Given the description of an element on the screen output the (x, y) to click on. 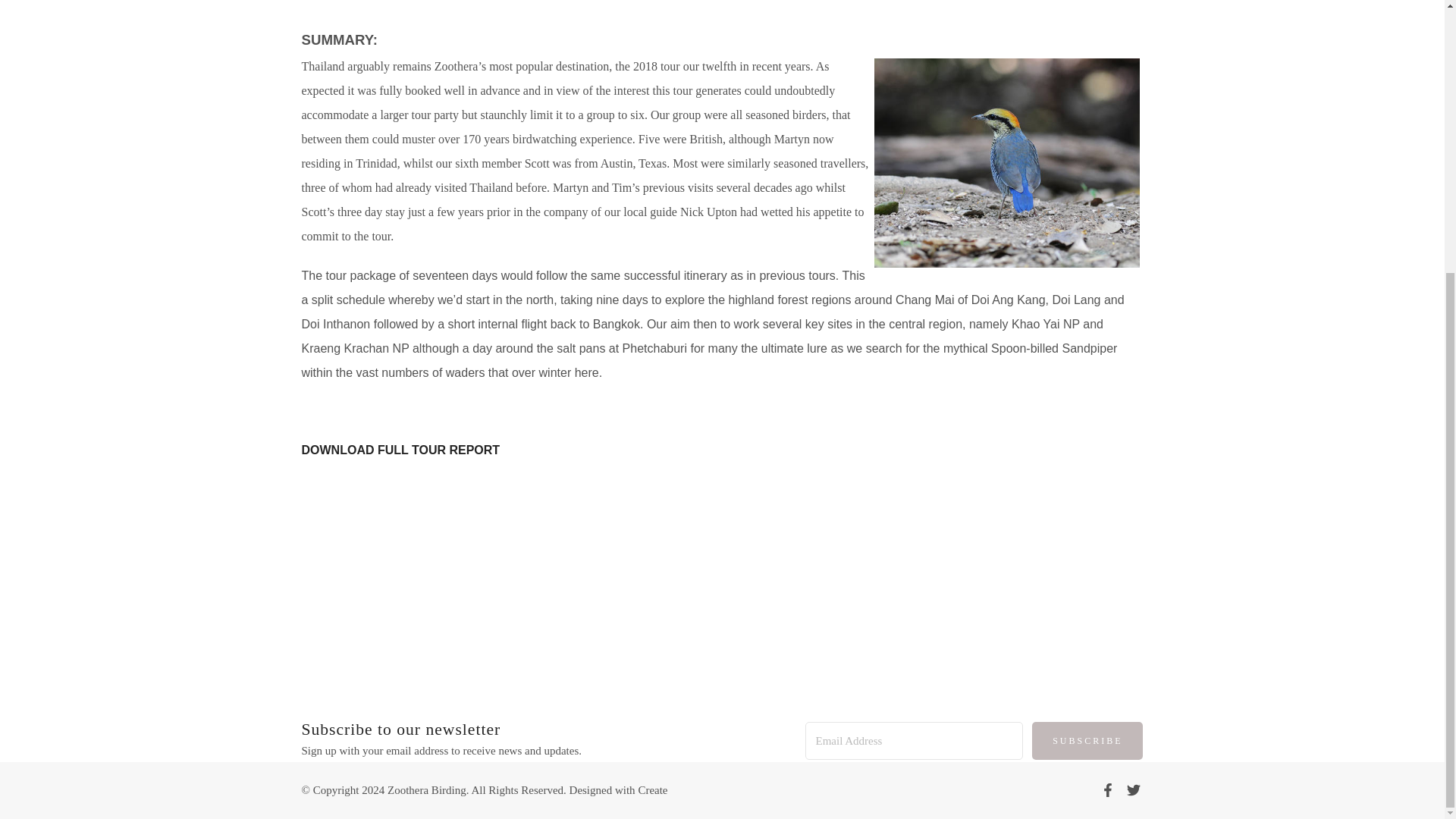
facebook (1107, 792)
Thailand Tour Report 2018 (400, 449)
DOWNLOAD FULL TOUR REPORT (400, 449)
twitter (1133, 792)
SUBSCRIBE (1087, 740)
Create (651, 789)
www.zootherabirding.com (743, 658)
Blue Pitta - Thailand (1005, 162)
